Given the description of an element on the screen output the (x, y) to click on. 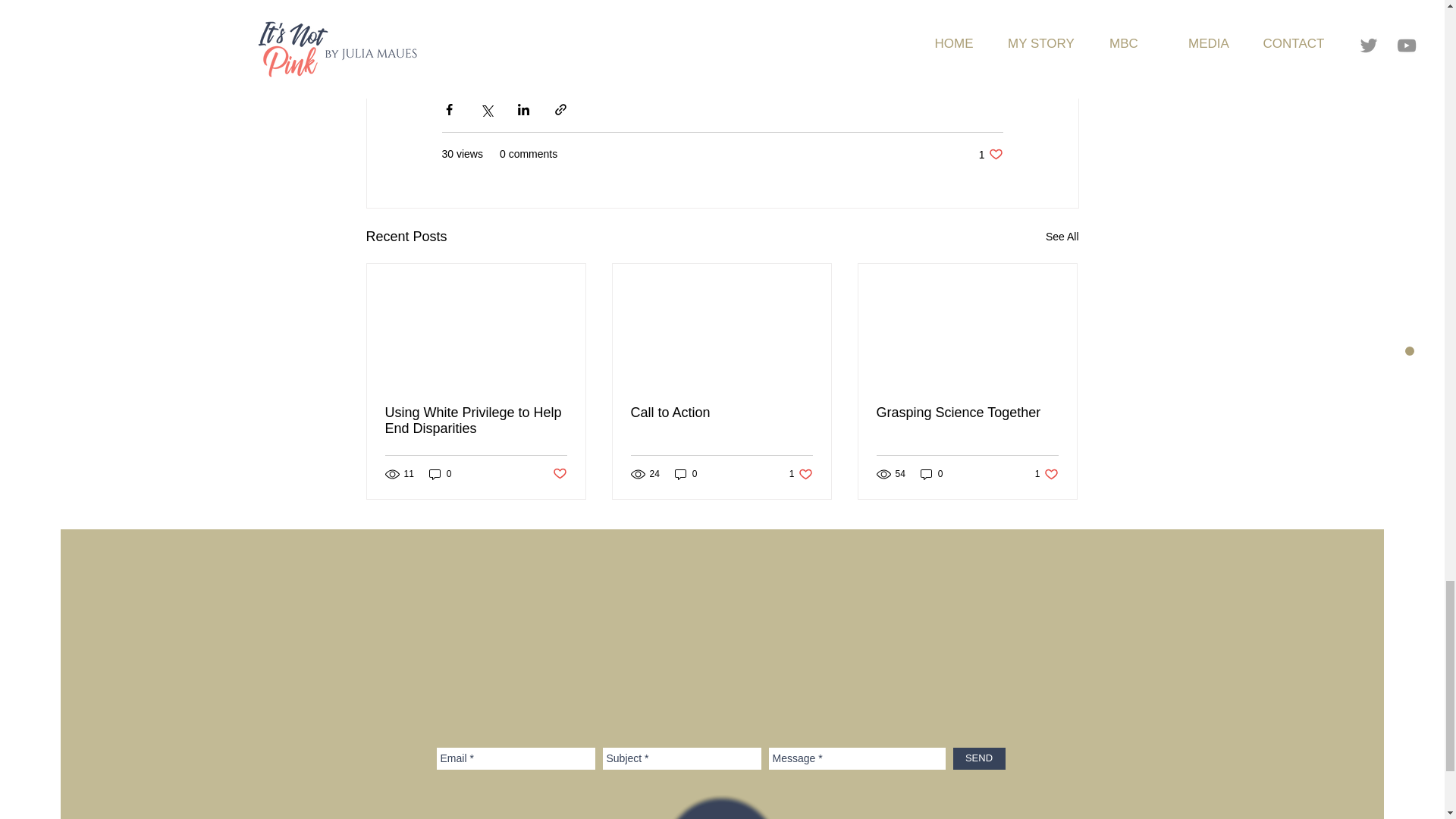
0 (685, 473)
Post not marked as liked (558, 473)
See All (1061, 237)
0 (440, 473)
Call to Action (721, 412)
Using White Privilege to Help End Disparities (476, 420)
